Given the description of an element on the screen output the (x, y) to click on. 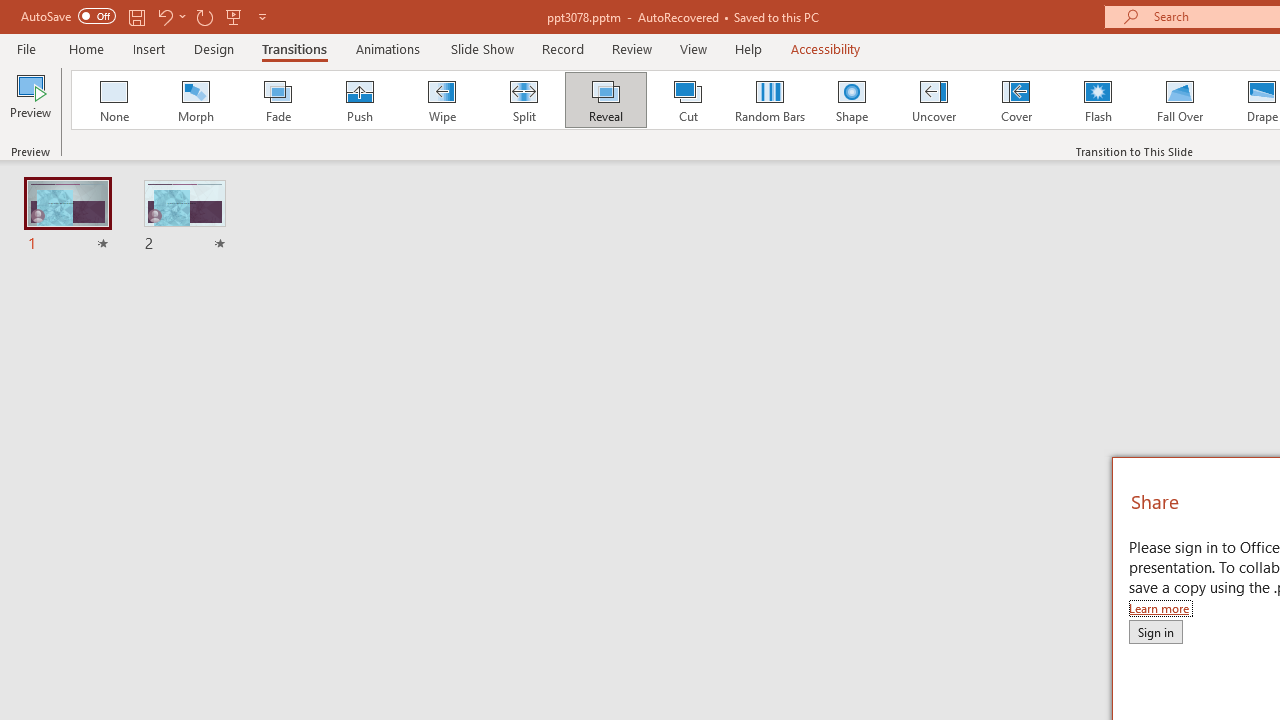
Reveal (605, 100)
Cover (1016, 100)
Sign in (1155, 631)
